Given the description of an element on the screen output the (x, y) to click on. 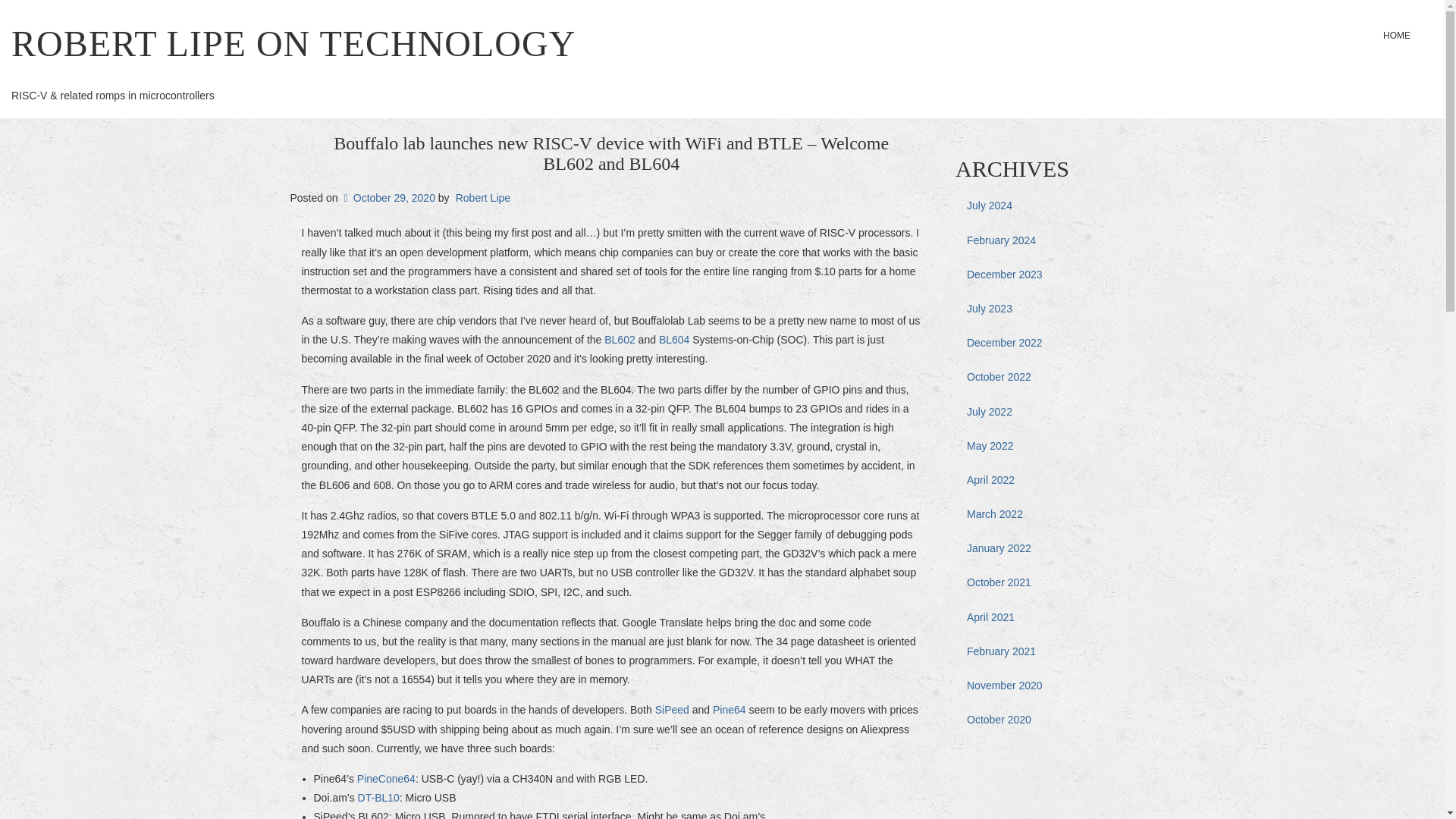
December 2023 (1054, 274)
October 2022 (1054, 376)
Robert Lipe (483, 197)
PineCone64 (385, 778)
DT-BL10 (378, 797)
March 2022 (1054, 514)
April 2022 (1054, 480)
HOME (1396, 35)
February 2024 (1054, 240)
July 2022 (1054, 411)
